Given the description of an element on the screen output the (x, y) to click on. 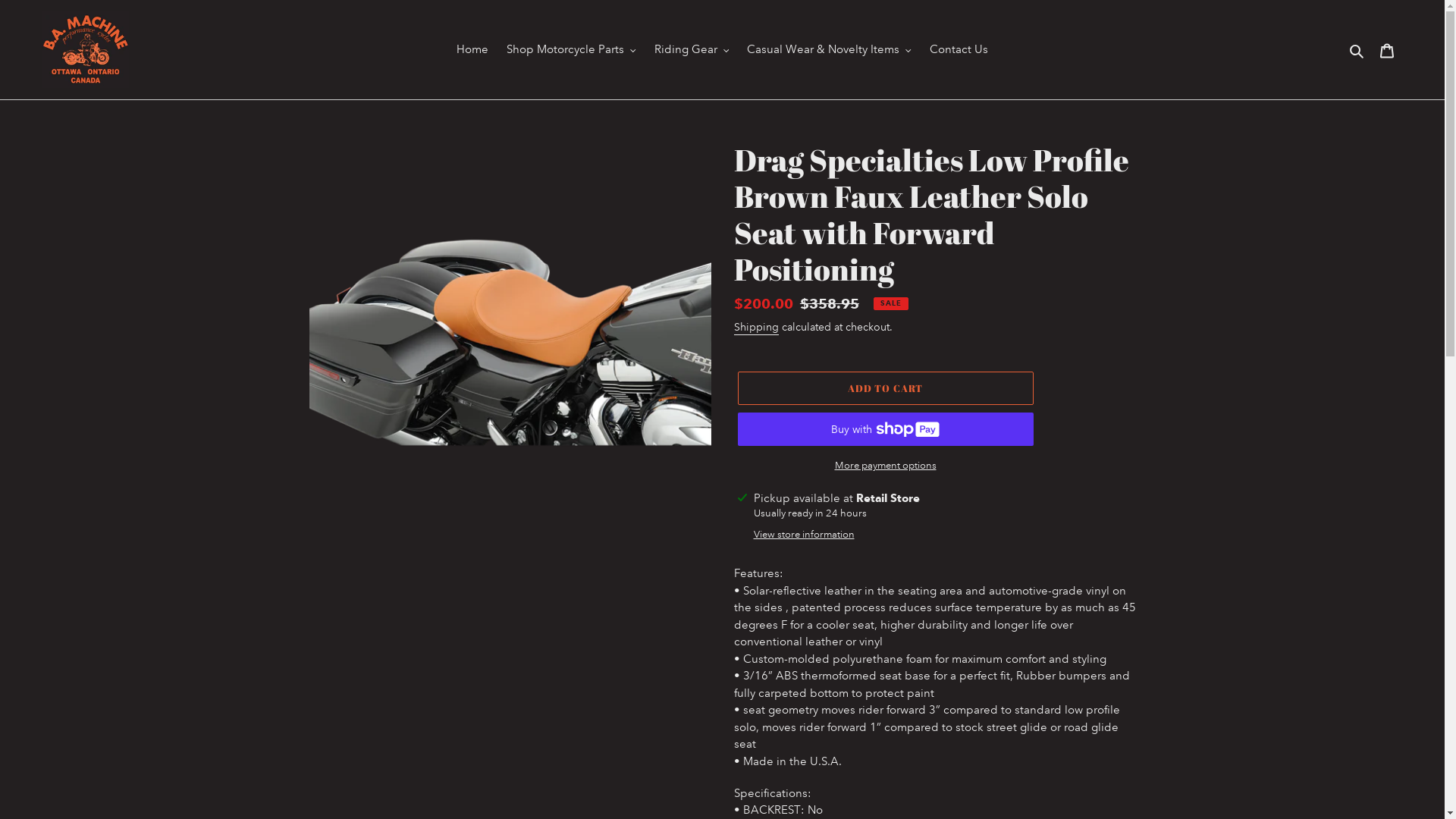
View store information Element type: text (803, 534)
ADD TO CART Element type: text (884, 387)
Casual Wear & Novelty Items Element type: text (829, 49)
Contact Us Element type: text (958, 49)
Home Element type: text (471, 49)
Shop Motorcycle Parts Element type: text (570, 49)
Search Element type: text (1357, 49)
Riding Gear Element type: text (691, 49)
More payment options Element type: text (884, 466)
Shipping Element type: text (756, 327)
Cart Element type: text (1386, 49)
